Given the description of an element on the screen output the (x, y) to click on. 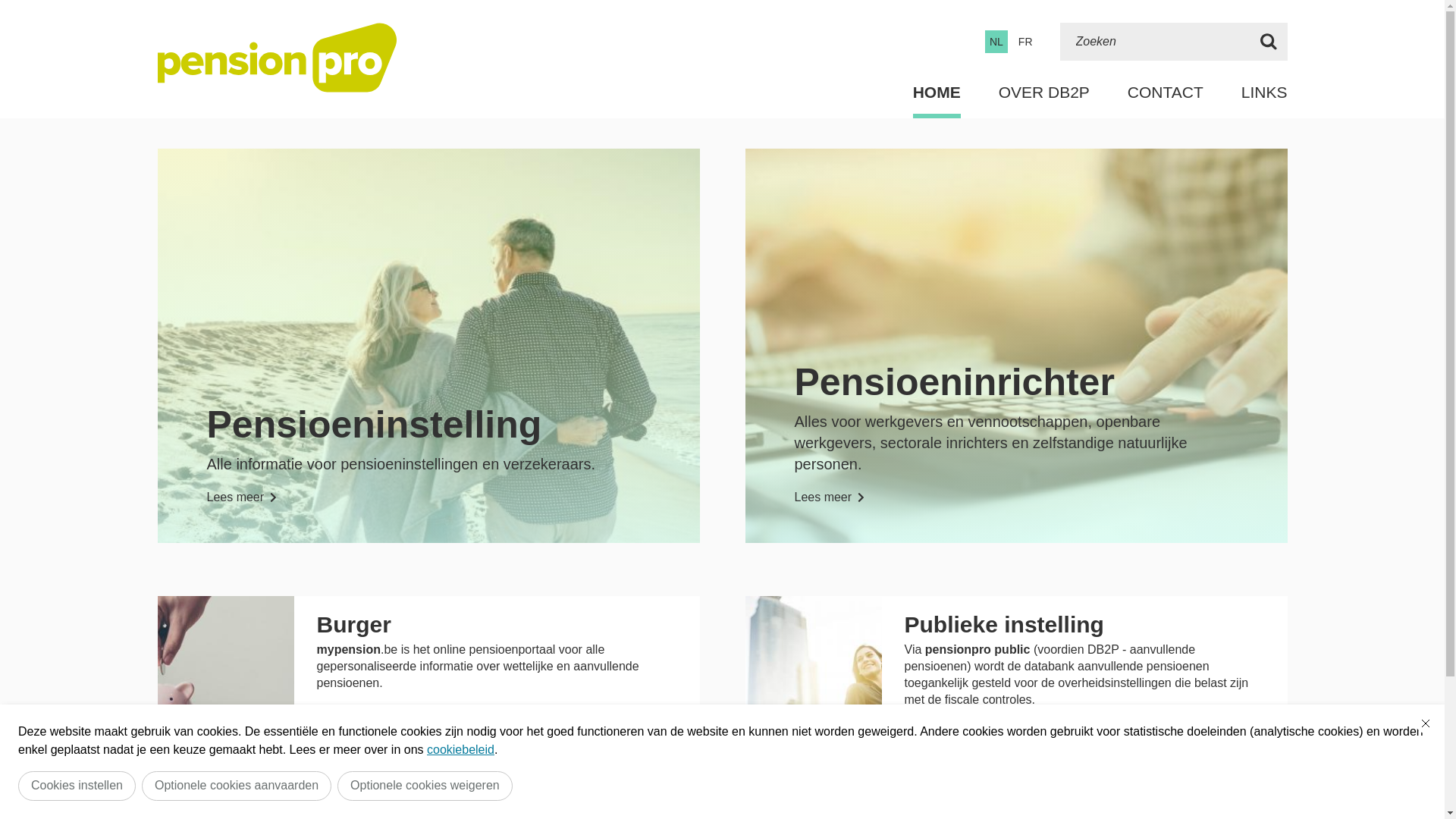
Overslaan en naar de inhoud gaan Element type: text (7, 4)
Publieke instelling Element type: text (1003, 624)
Optionele cookies weigeren Element type: text (424, 785)
Naar de toepassing Element type: text (389, 719)
Naar de toepassing Element type: text (976, 736)
Optionele cookies aanvaarden Element type: text (236, 785)
HOME Element type: text (936, 92)
FR Element type: text (1025, 41)
Apply Element type: text (1268, 41)
Cookies instellen Element type: text (76, 785)
OVER DB2P Element type: text (1043, 92)
Zoeken Element type: hover (1154, 41)
LINKS Element type: text (1264, 92)
NL Element type: text (996, 41)
cookiebeleid Element type: text (460, 749)
Back to Pension Pro home page Element type: hover (276, 57)
Sluiten Element type: hover (1425, 723)
CONTACT Element type: text (1165, 92)
Burger Element type: text (353, 624)
